Given the description of an element on the screen output the (x, y) to click on. 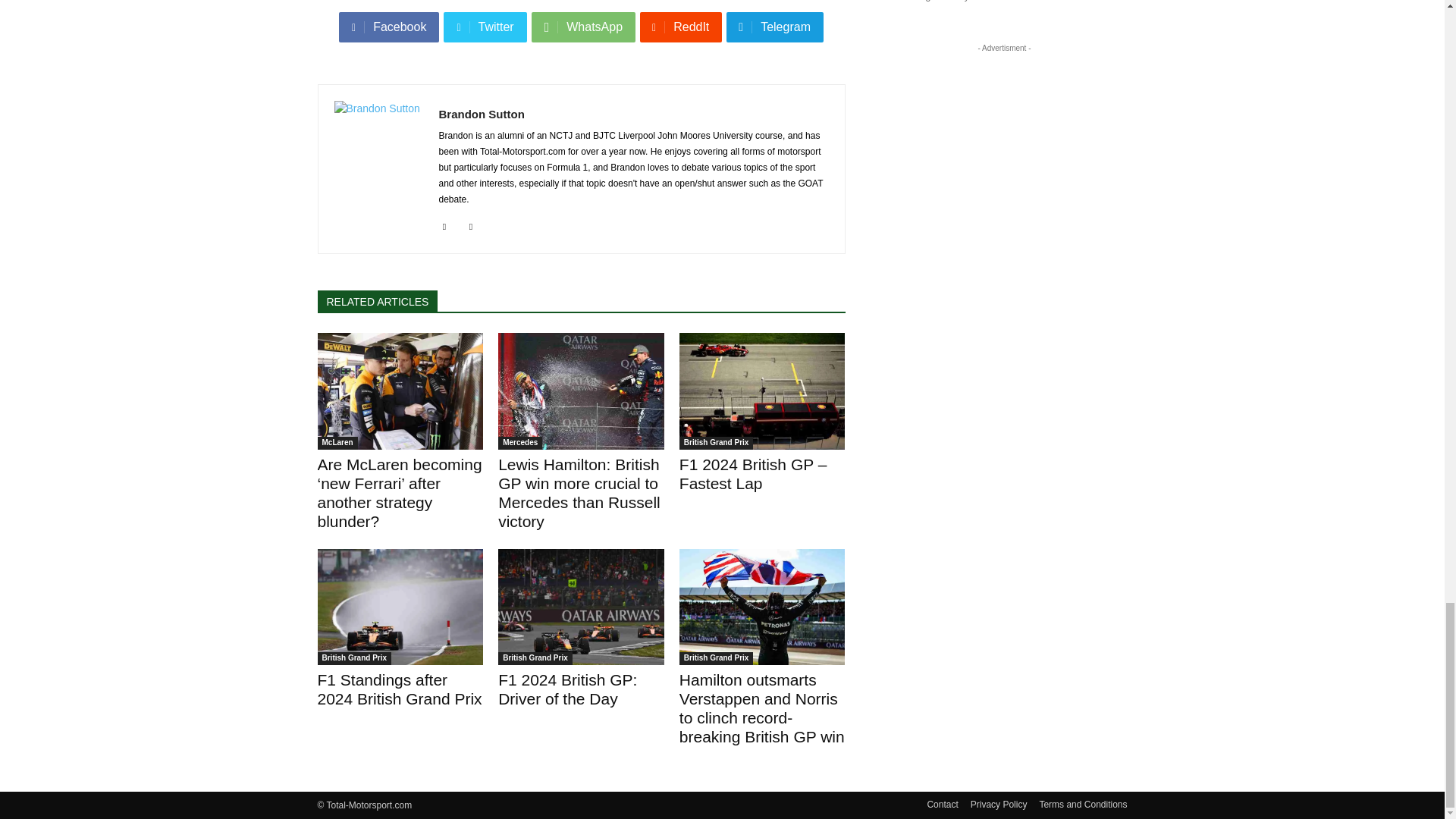
Facebook (389, 27)
ReddIt (681, 27)
Twitter (484, 27)
WhatsApp (582, 27)
Telegram (775, 27)
